Given the description of an element on the screen output the (x, y) to click on. 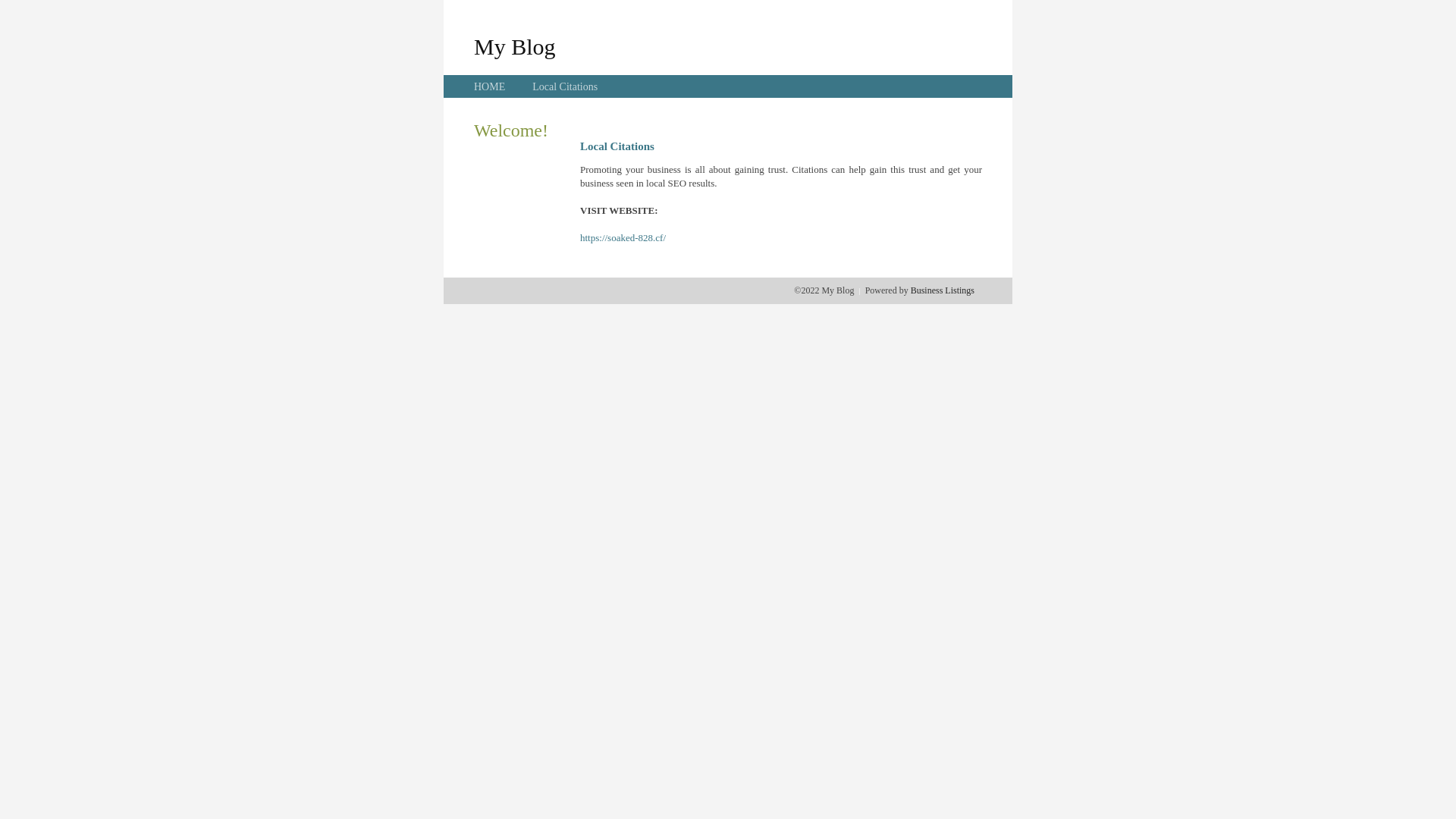
Business Listings Element type: text (942, 290)
My Blog Element type: text (514, 46)
HOME Element type: text (489, 86)
Local Citations Element type: text (564, 86)
https://soaked-828.cf/ Element type: text (622, 237)
